Given the description of an element on the screen output the (x, y) to click on. 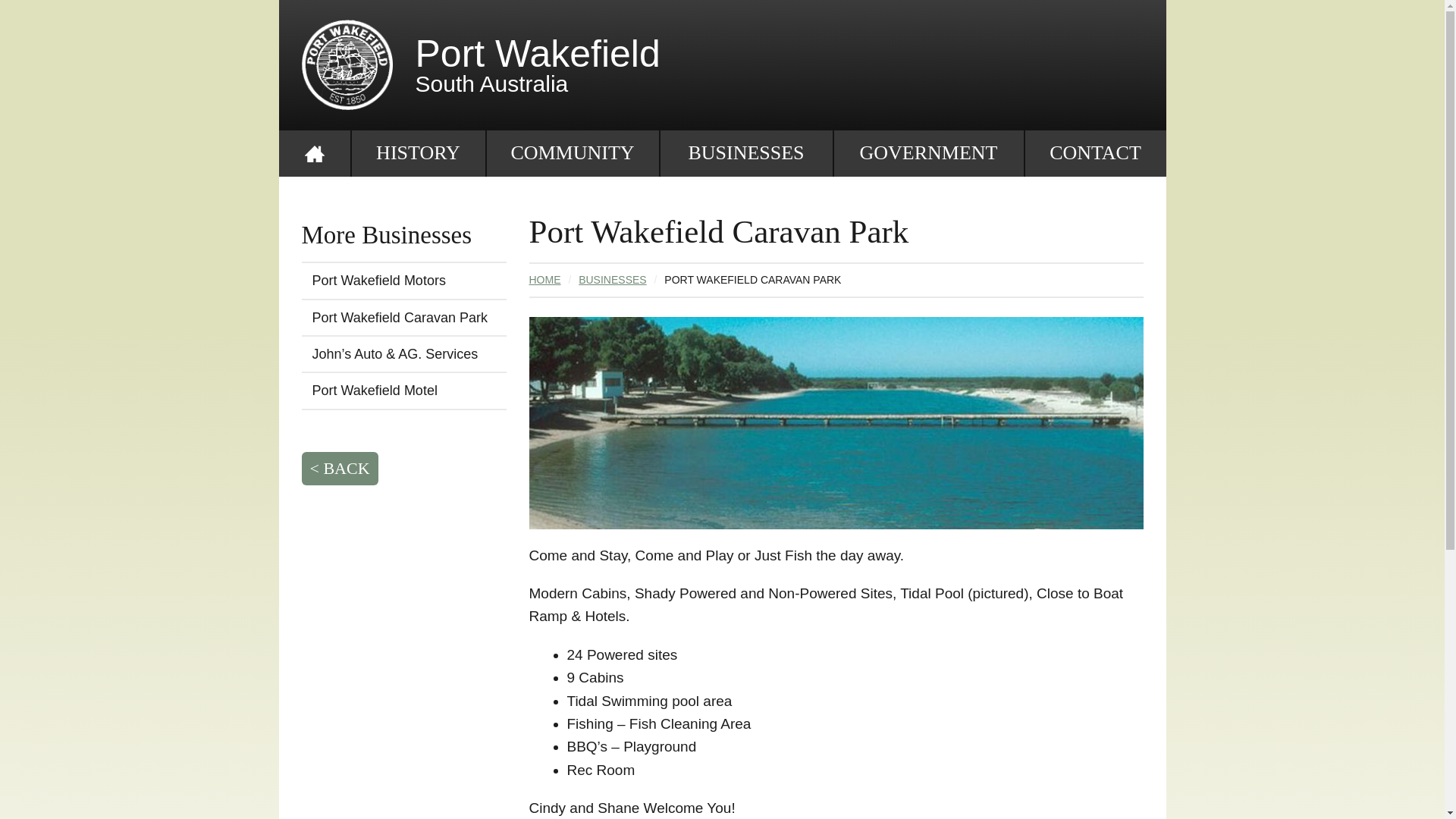
Port Wakefield
South Australia Element type: text (722, 68)
CONTACT Element type: text (1094, 153)
BUSINESSES Element type: text (612, 279)
GOVERNMENT Element type: text (927, 153)
HOME Element type: text (545, 279)
HOME Element type: text (314, 153)
COMMUNITY Element type: text (571, 153)
BUSINESSES Element type: text (744, 153)
Port Wakefield Motel Element type: text (403, 391)
HISTORY Element type: text (417, 153)
Port Wakefield Motors Element type: text (403, 281)
BACK
TO THE BUSINESSES PAGE Element type: text (339, 468)
Port Wakefield Caravan Park Element type: text (403, 318)
